Given the description of an element on the screen output the (x, y) to click on. 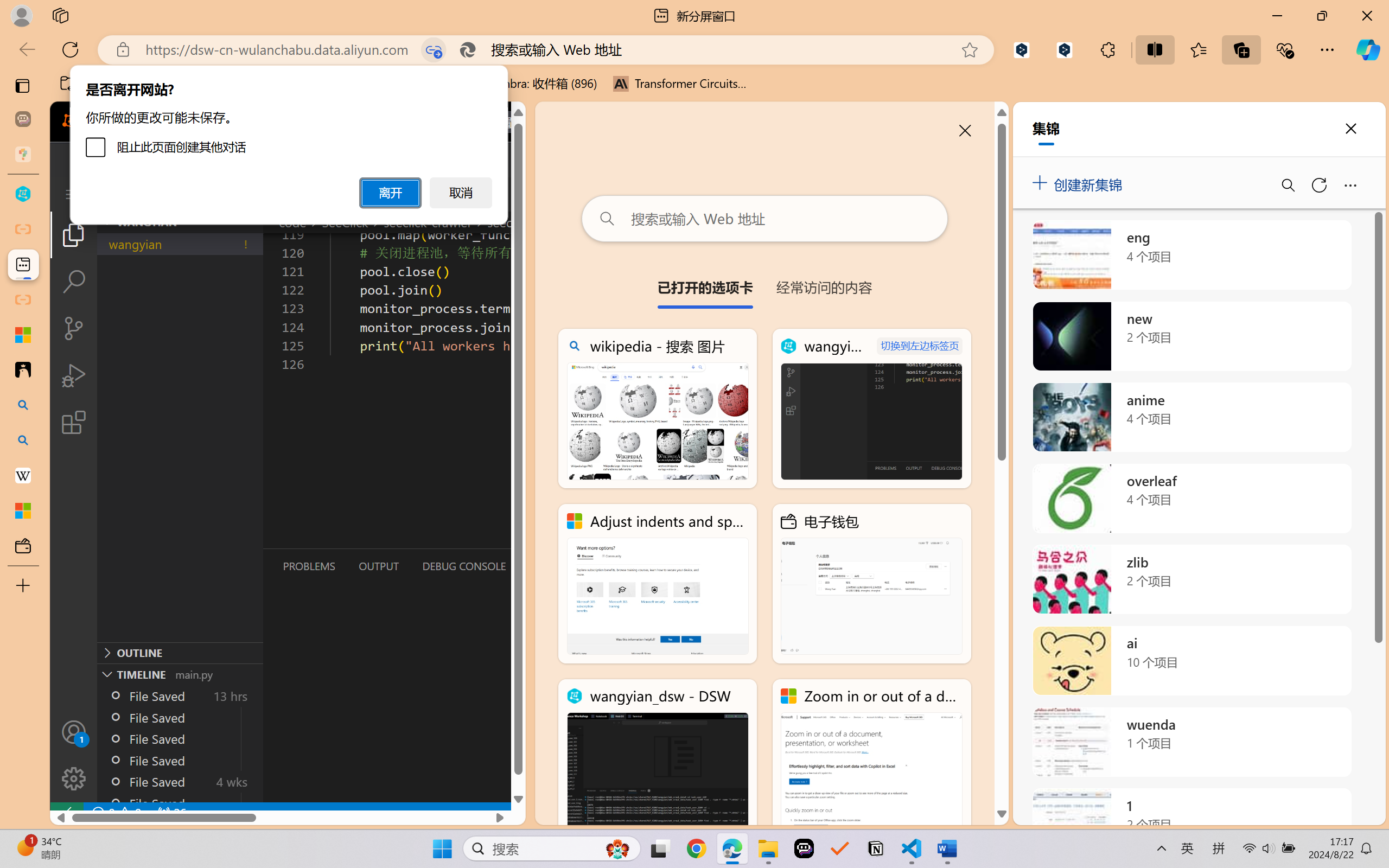
Output (Ctrl+Shift+U) (377, 565)
wangyian_dsw - DSW (657, 758)
